Given the description of an element on the screen output the (x, y) to click on. 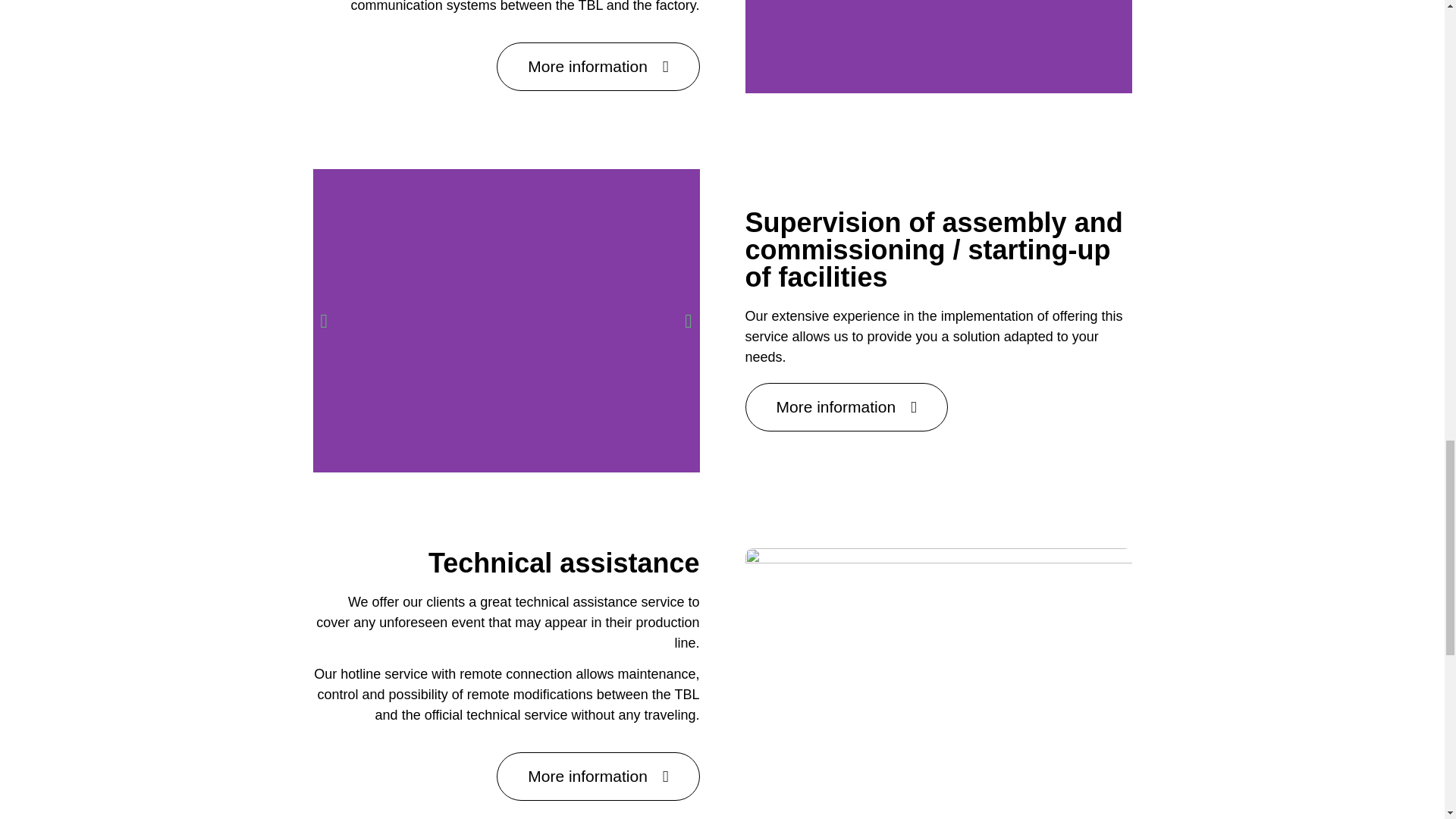
More information (597, 776)
More information (597, 66)
More information (845, 407)
